Given the description of an element on the screen output the (x, y) to click on. 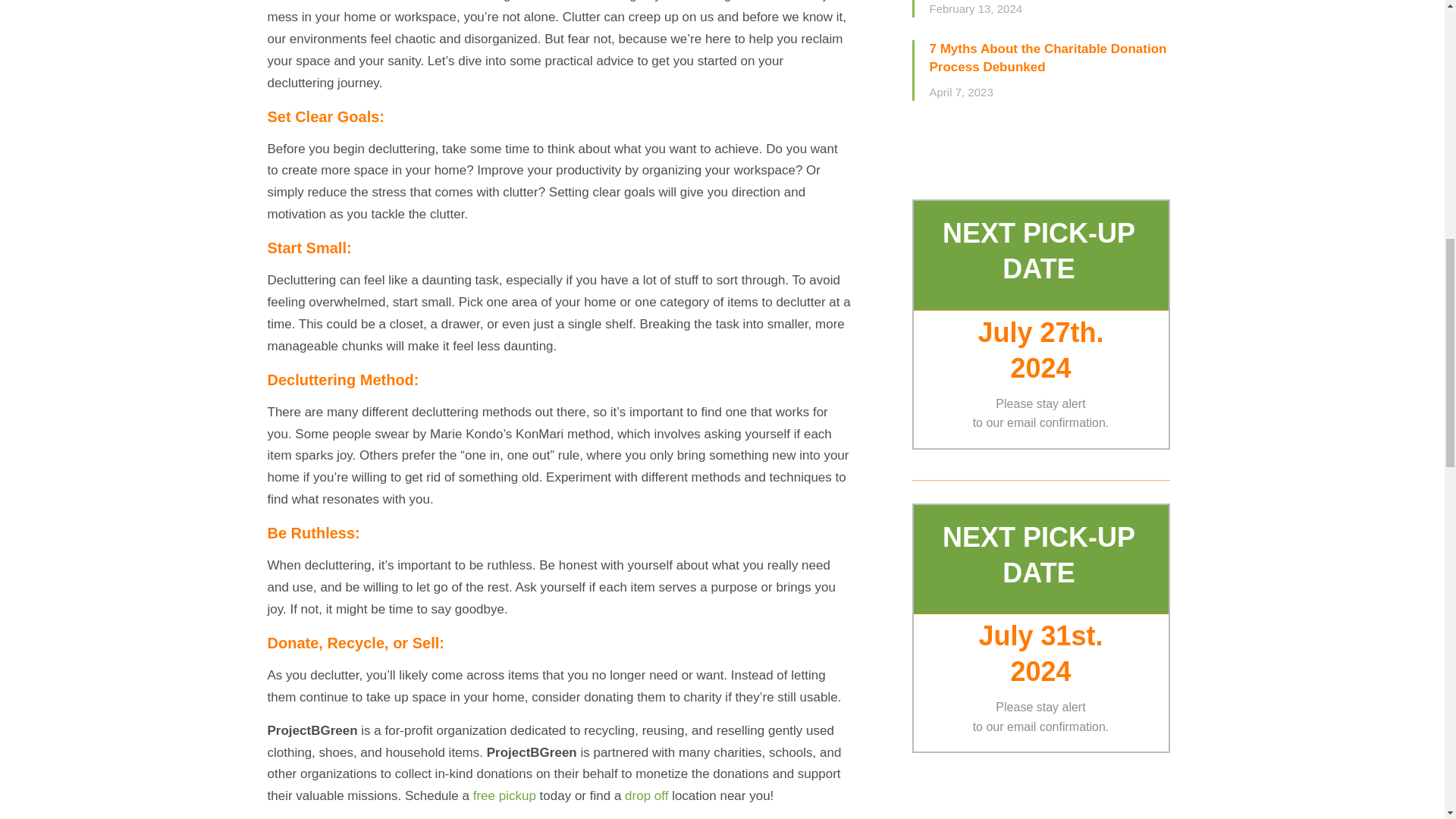
7 Myths About the Charitable Donation Process Debunked (1050, 58)
7 Myths About the Charitable Donation Process Debunked (1050, 58)
drop off  (647, 795)
free pickup (504, 795)
